Given the description of an element on the screen output the (x, y) to click on. 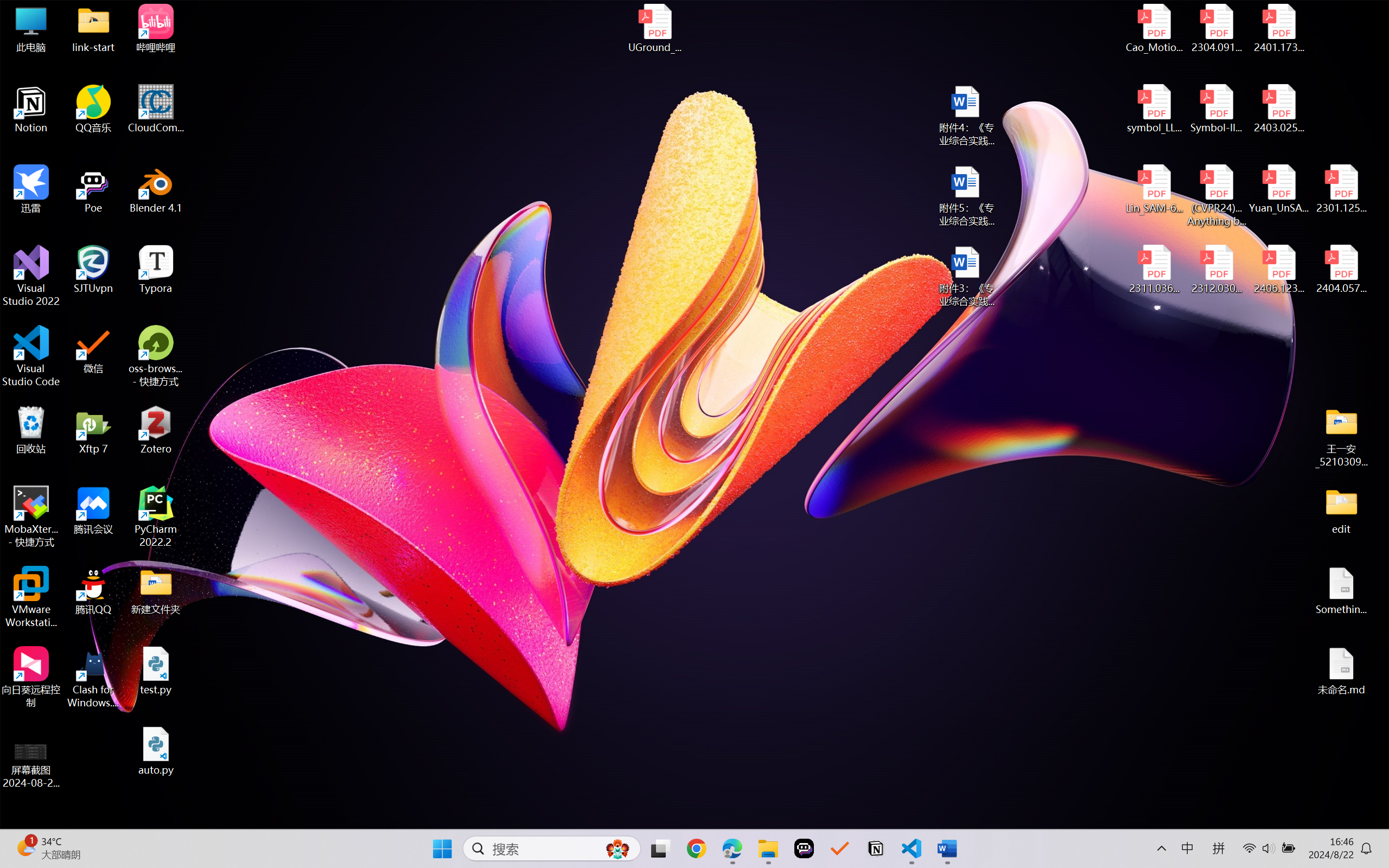
Google Chrome (696, 848)
Xftp 7 (93, 430)
auto.py (156, 751)
Typora (156, 269)
VMware Workstation Pro (31, 597)
